Given the description of an element on the screen output the (x, y) to click on. 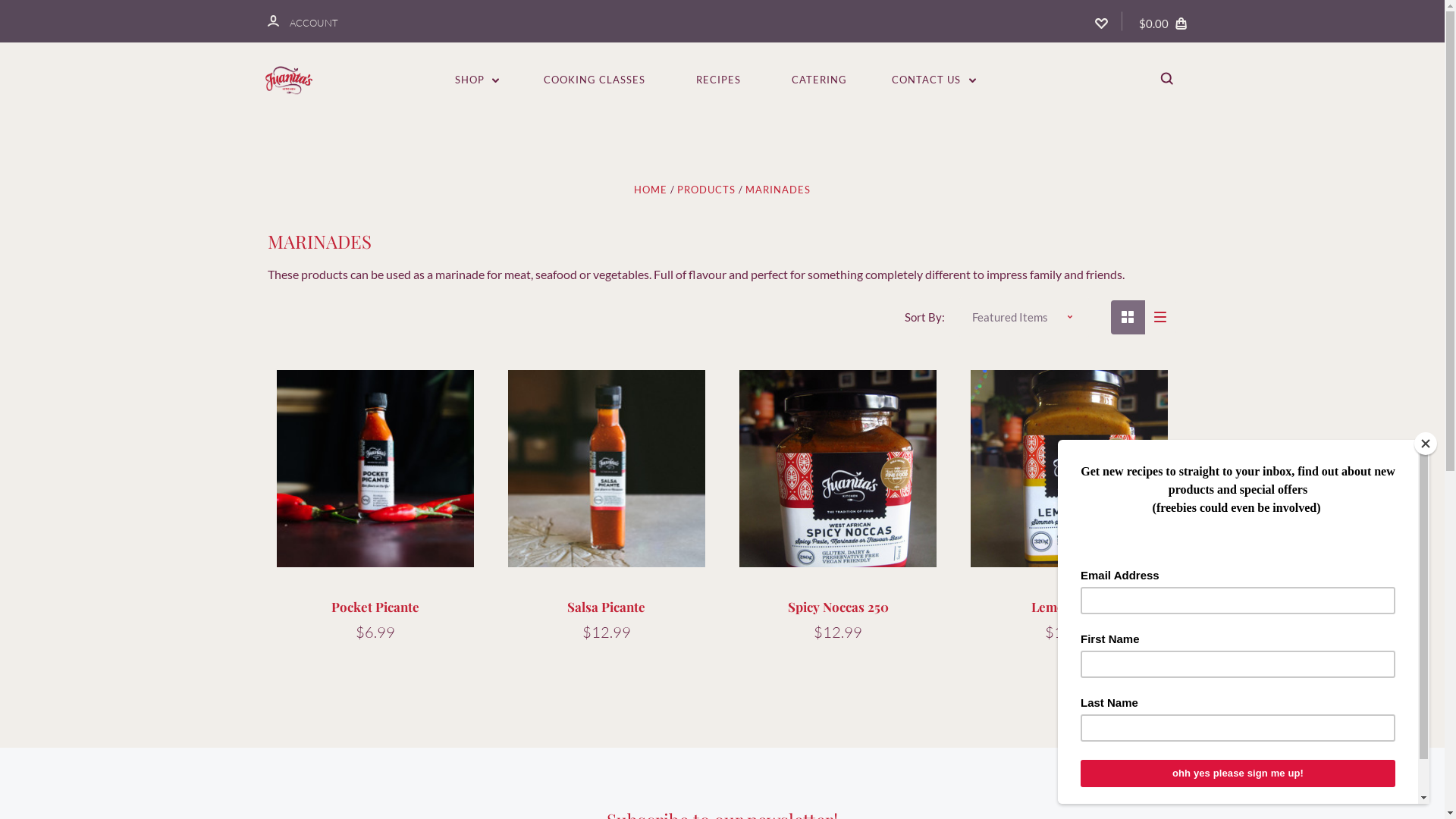
grid icon Element type: text (1127, 317)
COOKING CLASSES Element type: text (594, 79)
Juanitas Kitchen Lemon Yassa Element type: hover (1069, 468)
SHOP DROPDOWN_ARROW Element type: text (476, 79)
Salsa Picante - a healthy hot sauce option.  Element type: hover (606, 468)
HOME Element type: text (650, 189)
MARINADES Element type: text (777, 189)
CONTACT US DROPDOWN_ARROW Element type: text (933, 79)
CATERING Element type: text (819, 79)
PRODUCTS Element type: text (706, 189)
$0.00 bag Element type: text (1165, 21)
search_icon Element type: text (1166, 79)
Pocket Picante Element type: hover (375, 468)
Pocket Picante Element type: text (375, 606)
Salsa Picante Element type: text (606, 606)
Spicy Noccas 250 Element type: text (837, 606)
Lemon Yassa Element type: text (1069, 606)
list icon Element type: text (1160, 317)
RECIPES Element type: text (718, 79)
ACCOUNT ACCOUNT Element type: text (301, 21)
Spicy Noccas Element type: hover (838, 468)
wishlist Element type: text (1101, 21)
